Given the description of an element on the screen output the (x, y) to click on. 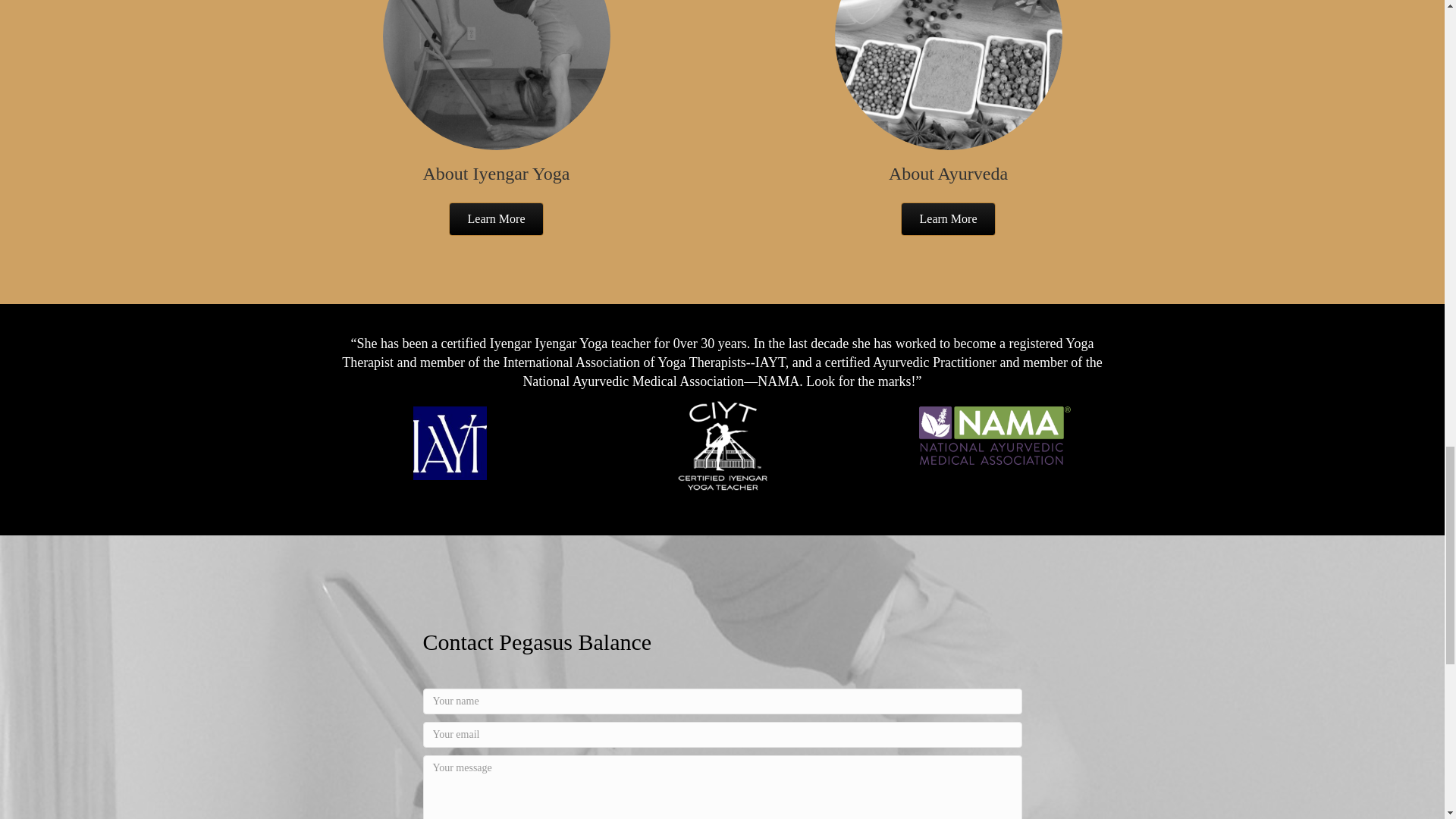
About Iyengar Yoga (496, 173)
Ayurveda (947, 74)
Learn More (496, 218)
ciyt-logo-text-275 (721, 448)
About Ayurveda (947, 173)
Learn More (948, 218)
